Given the description of an element on the screen output the (x, y) to click on. 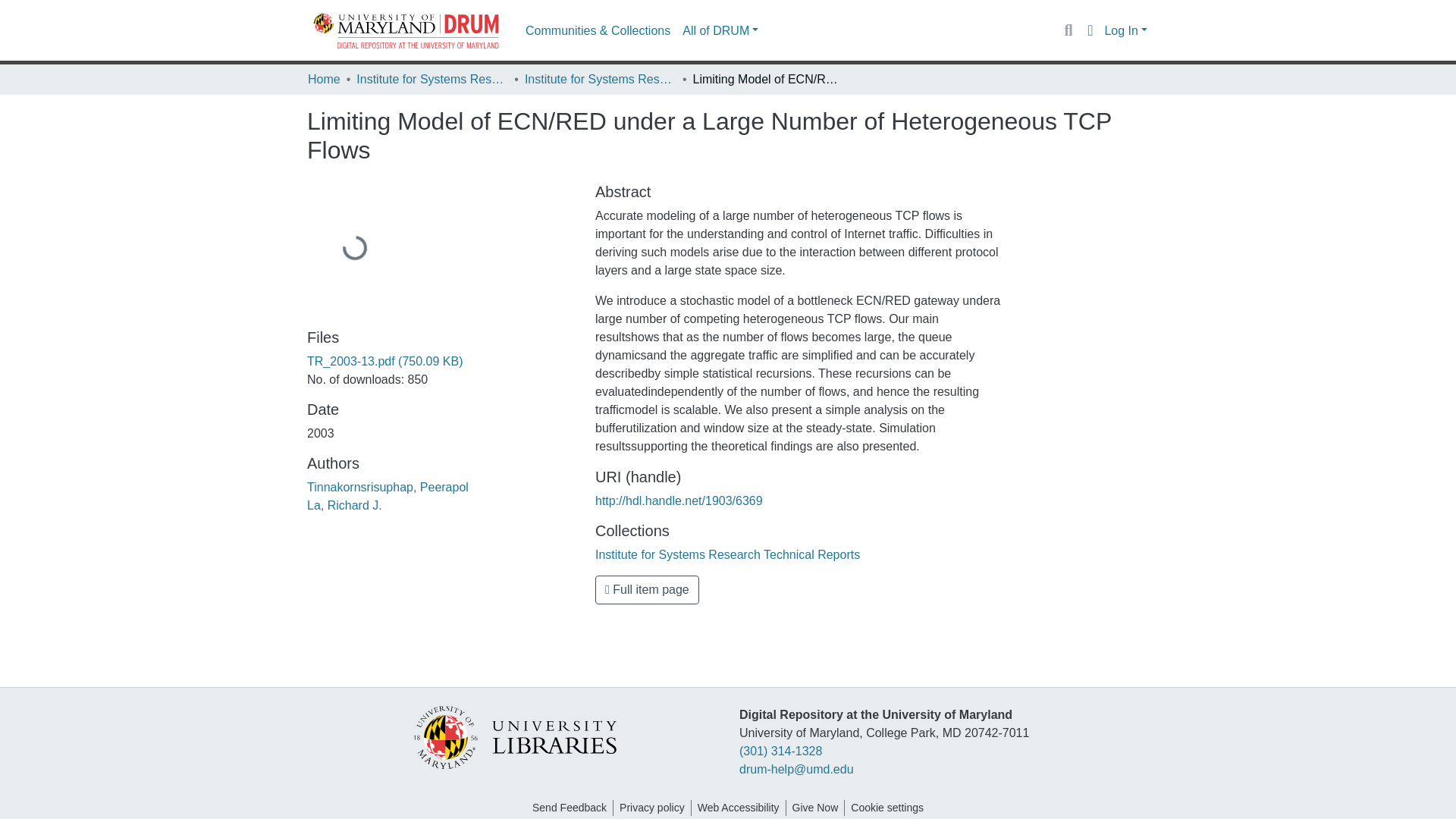
Institute for Systems Research Technical Reports (727, 554)
All of DRUM (720, 30)
Cookie settings (887, 807)
Search (1067, 30)
Give Now (815, 807)
Institute for Systems Research (432, 79)
Web Accessibility (738, 807)
La, Richard J. (344, 504)
Institute for Systems Research Technical Reports (600, 79)
Tinnakornsrisuphap, Peerapol (387, 486)
Send Feedback (568, 807)
Home (323, 79)
Privacy policy (651, 807)
Log In (1125, 30)
Libraries Home Page (515, 735)
